Given the description of an element on the screen output the (x, y) to click on. 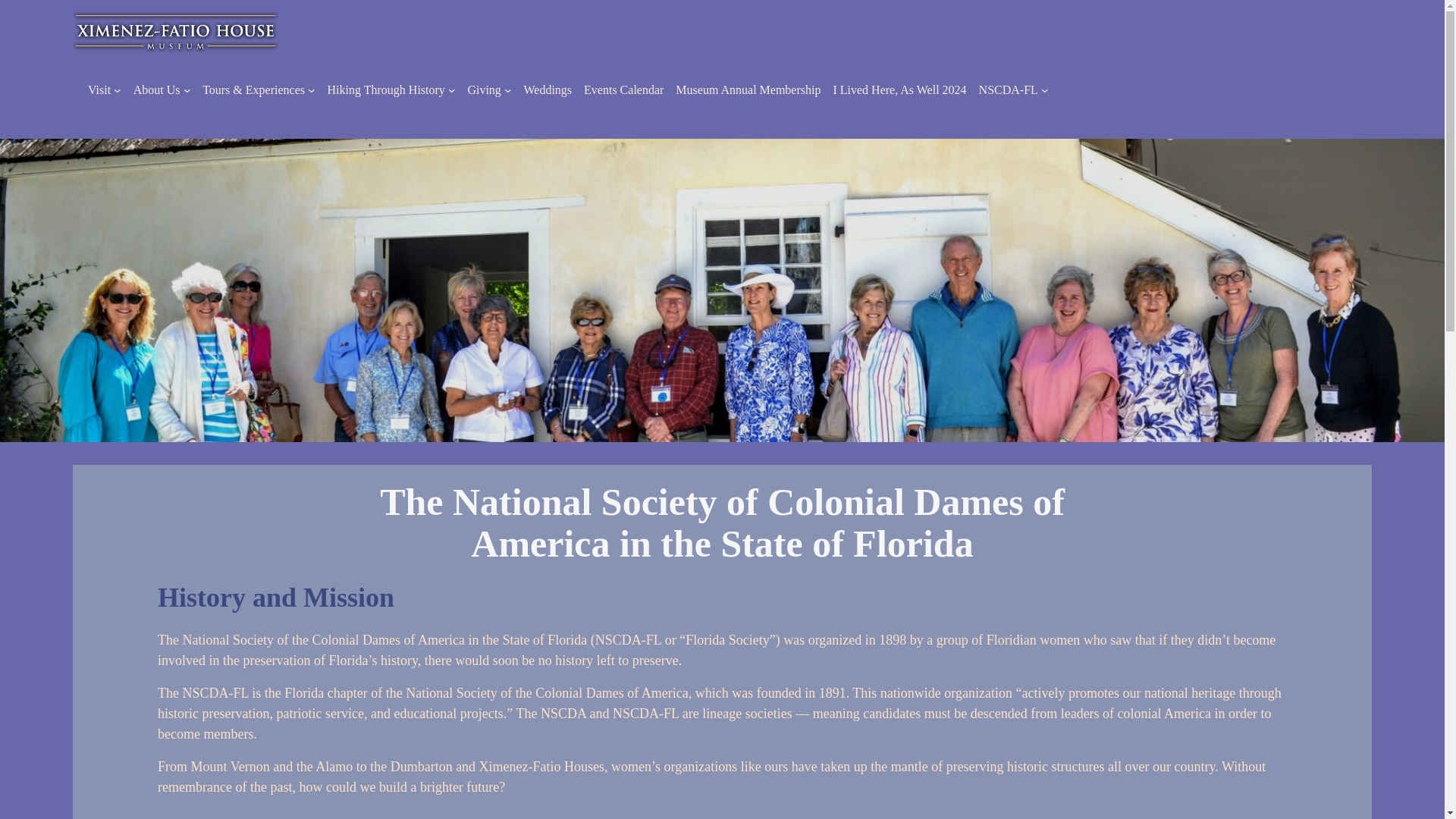
About Us (156, 90)
Giving (483, 90)
Visit (98, 90)
NSCDA-FL (1008, 90)
Museum Annual Membership (748, 90)
Weddings (547, 90)
Events Calendar (623, 90)
Hiking Through History (386, 90)
I Lived Here, As Well 2024 (899, 90)
